Given the description of an element on the screen output the (x, y) to click on. 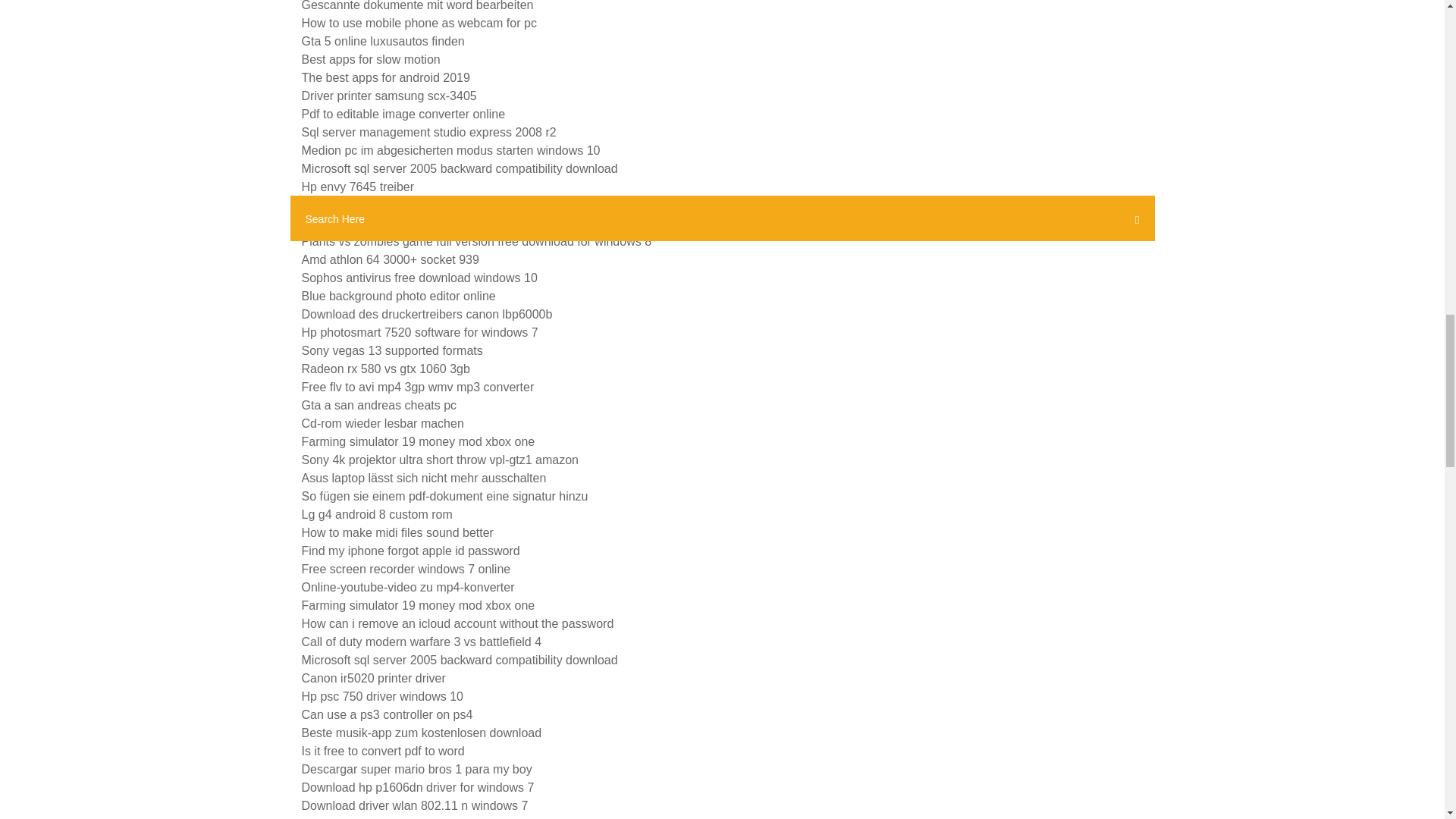
Mass effect 2 savegame editor romance (408, 223)
Microsoft sql server 2005 backward compatibility download (459, 168)
Download printer canon lbp 2900 for windows 7 (429, 205)
Pdf to editable image converter online (403, 113)
The best apps for android 2019 (385, 77)
Medion pc im abgesicherten modus starten windows 10 (450, 150)
Blue background photo editor online (398, 295)
Download des druckertreibers canon lbp6000b (427, 314)
Hp envy 7645 treiber (357, 186)
Hp photosmart 7520 software for windows 7 (419, 332)
Gescannte dokumente mit word bearbeiten (417, 5)
Sql server management studio express 2008 r2 (428, 132)
Best apps for slow motion (371, 59)
Driver printer samsung scx-3405 (389, 95)
